Given the description of an element on the screen output the (x, y) to click on. 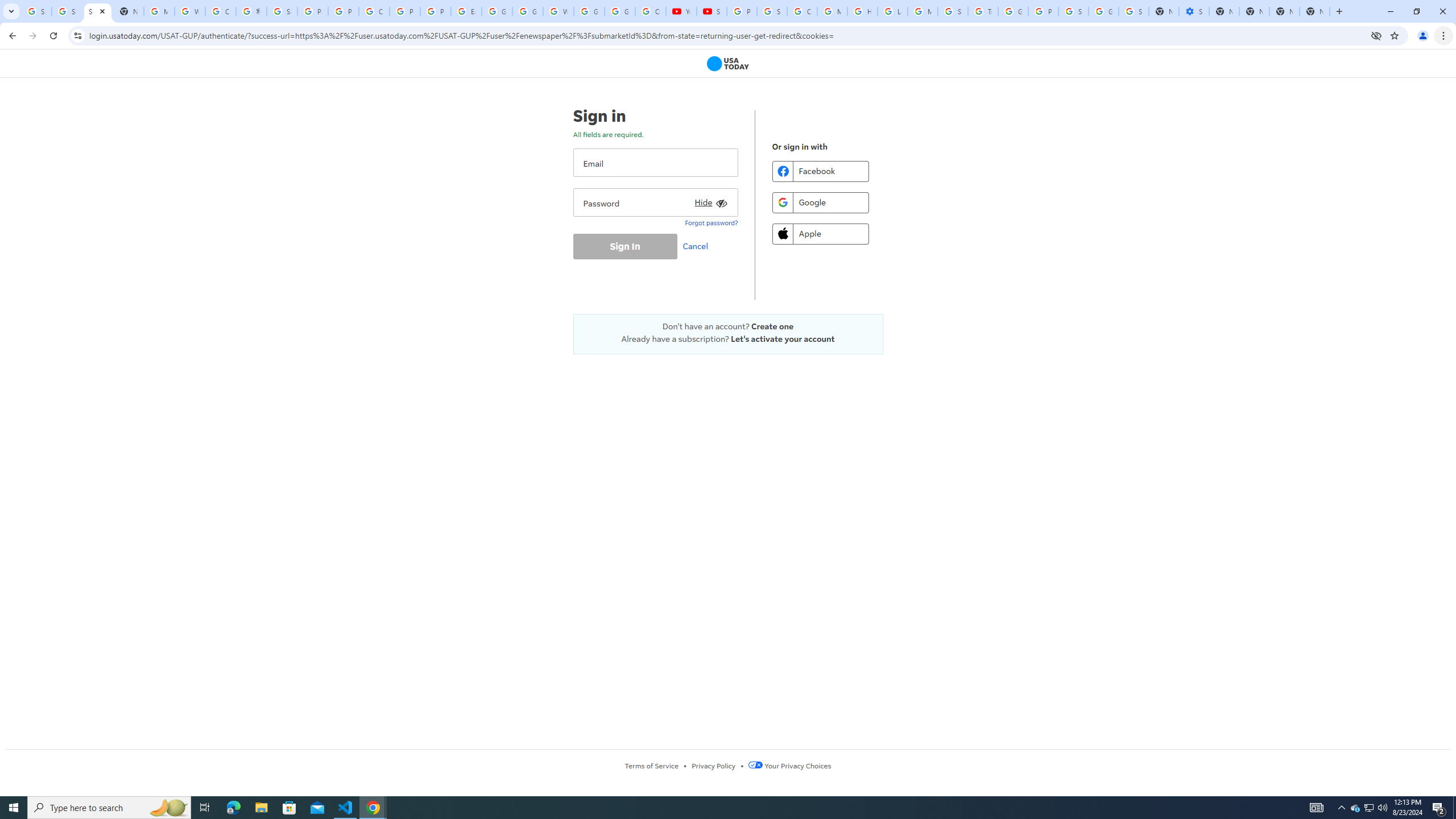
 Your Privacy Choices (789, 765)
Welcome to My Activity (558, 11)
Don't have an account? Create one (727, 326)
Google Cybersecurity Innovations - Google Safety Center (1103, 11)
Search our Doodle Library Collection - Google Doodles (952, 11)
Apple (820, 233)
Google Ads - Sign in (1012, 11)
Forgot password? (711, 221)
